Given the description of an element on the screen output the (x, y) to click on. 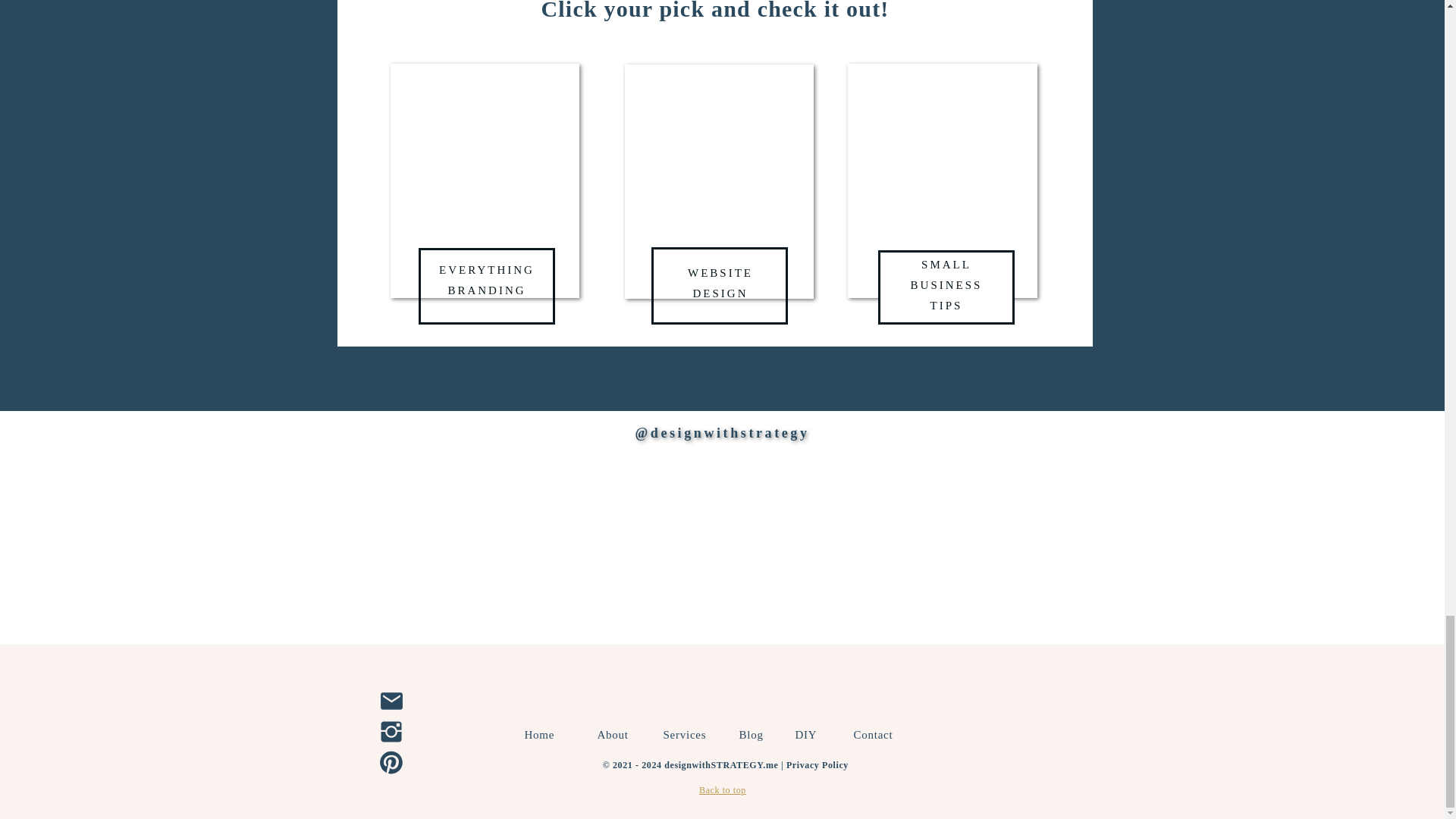
Back to top (720, 284)
Blog (721, 789)
DIY (751, 734)
Contact (811, 734)
About (877, 734)
EVERYTHING BRANDING (615, 734)
SMALL BUSINESS TIPS (486, 286)
Services (945, 286)
Home (687, 734)
